Given the description of an element on the screen output the (x, y) to click on. 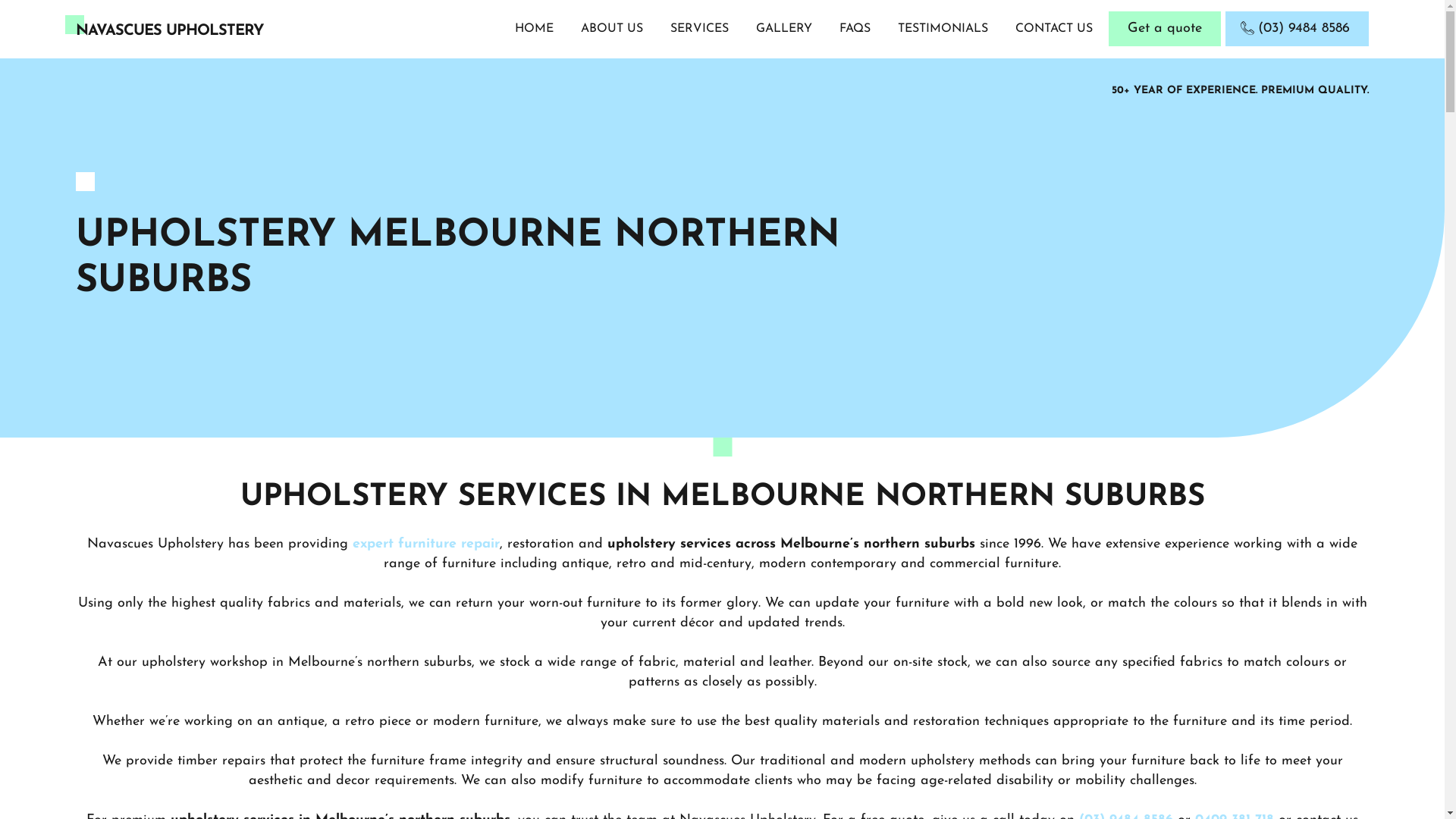
HOME Element type: text (533, 28)
expert furniture repair Element type: text (425, 543)
FAQS Element type: text (854, 28)
Skip to content Element type: text (0, 0)
NAVASCUES UPHOLSTERY Element type: text (169, 30)
ABOUT US Element type: text (611, 28)
TESTIMONIALS Element type: text (942, 28)
CONTACT US Element type: text (1054, 28)
Get a quote Element type: text (1164, 28)
(03) 9484 8586 Element type: text (1296, 28)
GALLERY Element type: text (783, 28)
SERVICES Element type: text (699, 28)
